Given the description of an element on the screen output the (x, y) to click on. 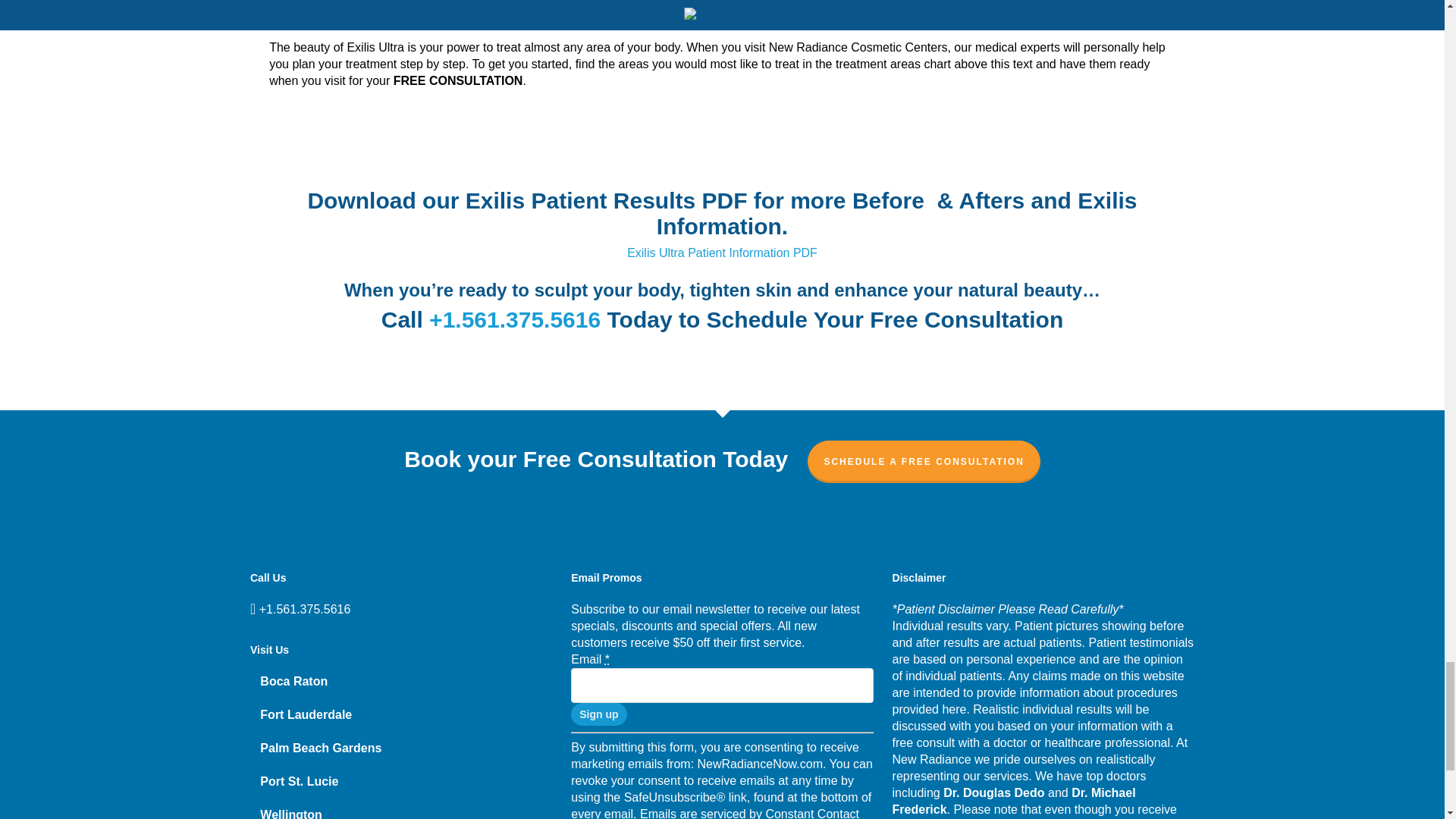
Sign up (598, 713)
Dr. Douglas Dedo (993, 792)
Dr. Michael Frederick (1013, 800)
